Given the description of an element on the screen output the (x, y) to click on. 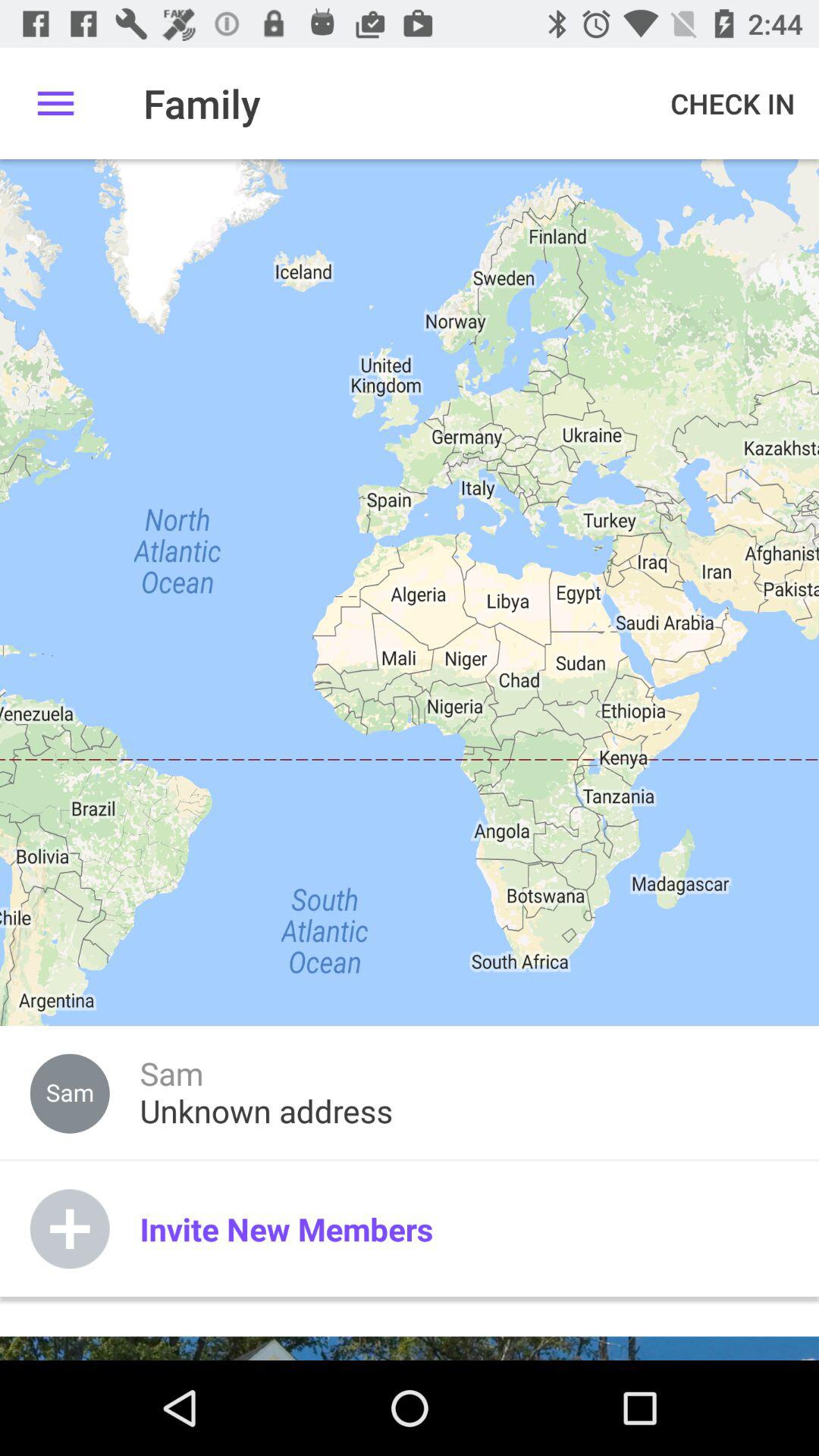
choose the icon next to family (732, 103)
